Given the description of an element on the screen output the (x, y) to click on. 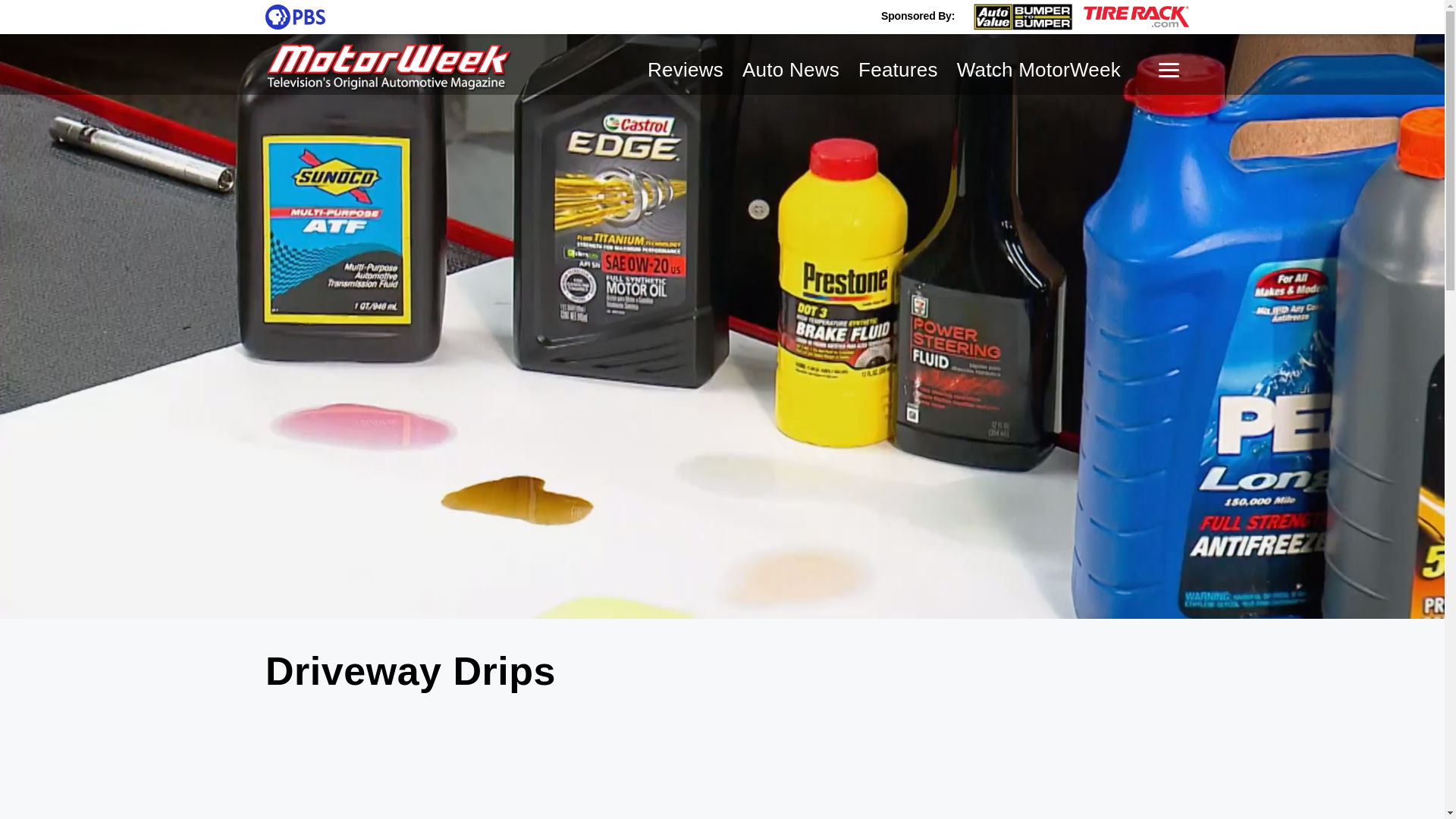
Reviews (685, 69)
Auto News (791, 69)
Features (898, 69)
Menu (1168, 69)
PBS (294, 16)
YouTube video player (721, 765)
Watch MotorWeek (1038, 69)
MotorWeek (388, 68)
